Given the description of an element on the screen output the (x, y) to click on. 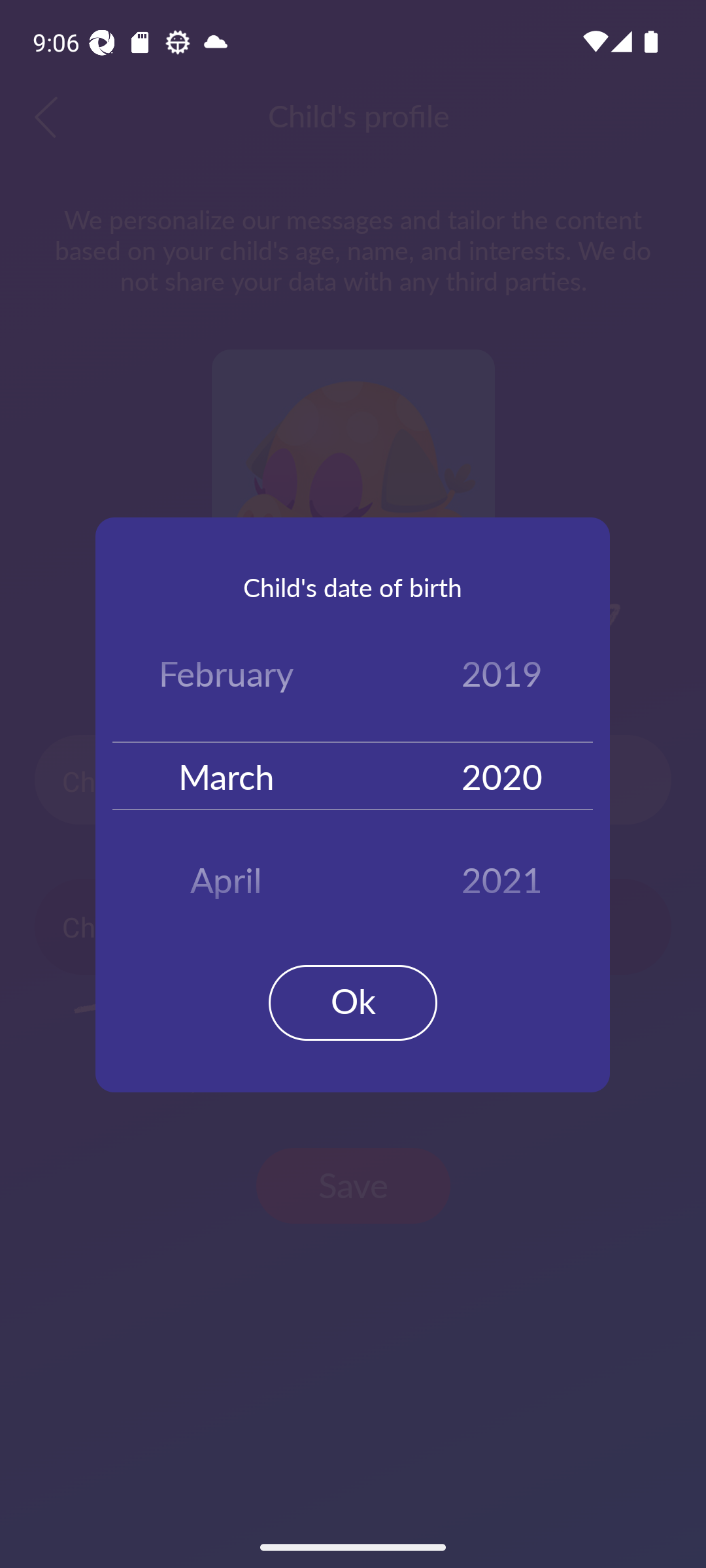
February (226, 676)
2019 (501, 676)
March (226, 774)
2020 (501, 774)
April (226, 872)
2021 (501, 872)
Ok (352, 1002)
